Given the description of an element on the screen output the (x, y) to click on. 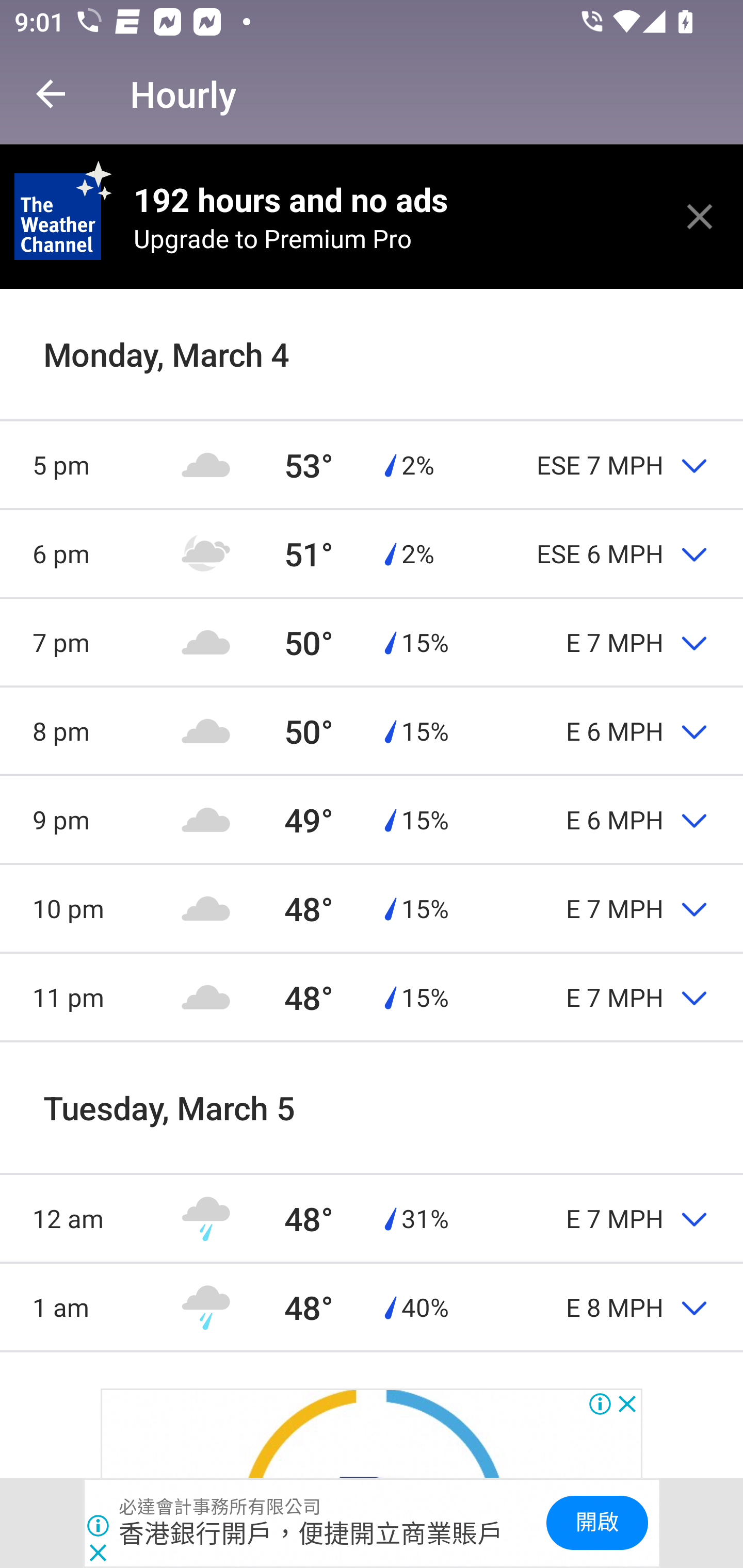
Navigate up (50, 93)
close this (699, 216)
5 pm 53° 2% ESE 7 MPH (371, 464)
6 pm 51° 2% ESE 6 MPH (371, 553)
7 pm 50° 15% E 7 MPH (371, 641)
8 pm 50° 15% E 6 MPH (371, 730)
9 pm 49° 15% E 6 MPH (371, 819)
10 pm 48° 15% E 7 MPH (371, 908)
11 pm 48° 15% E 7 MPH (371, 996)
12 am 48° 31% E 7 MPH (371, 1218)
1 am 48° 40% E 8 MPH (371, 1306)
必達會計事務所有限公司 (220, 1507)
開啟 (596, 1522)
香港銀行開戶，便捷開立商業賬戶 (311, 1533)
